Given the description of an element on the screen output the (x, y) to click on. 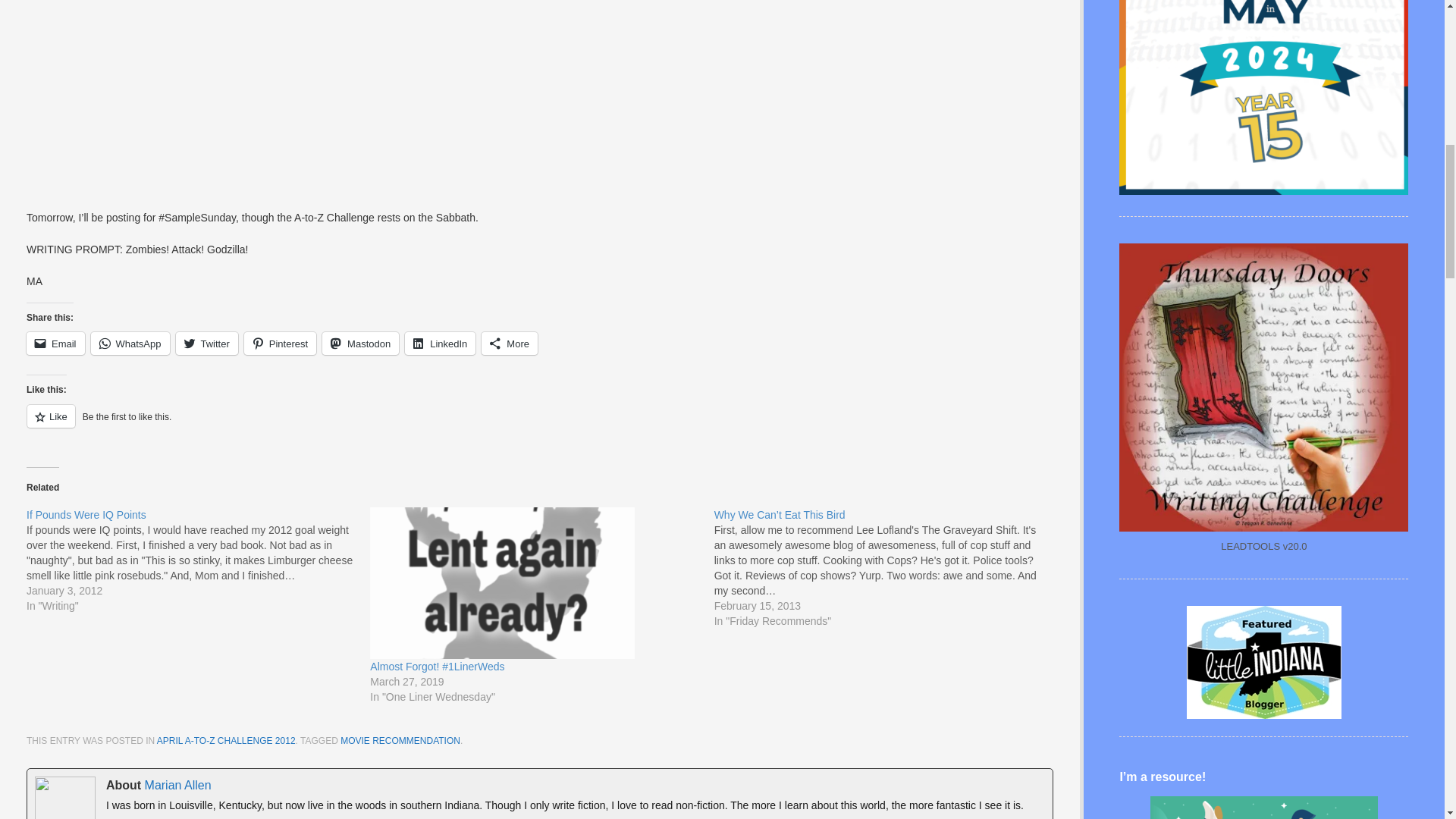
Click to share on Twitter (207, 343)
Click to share on Pinterest (279, 343)
Click to share on WhatsApp (130, 343)
Click to email a link to a friend (55, 343)
